Given the description of an element on the screen output the (x, y) to click on. 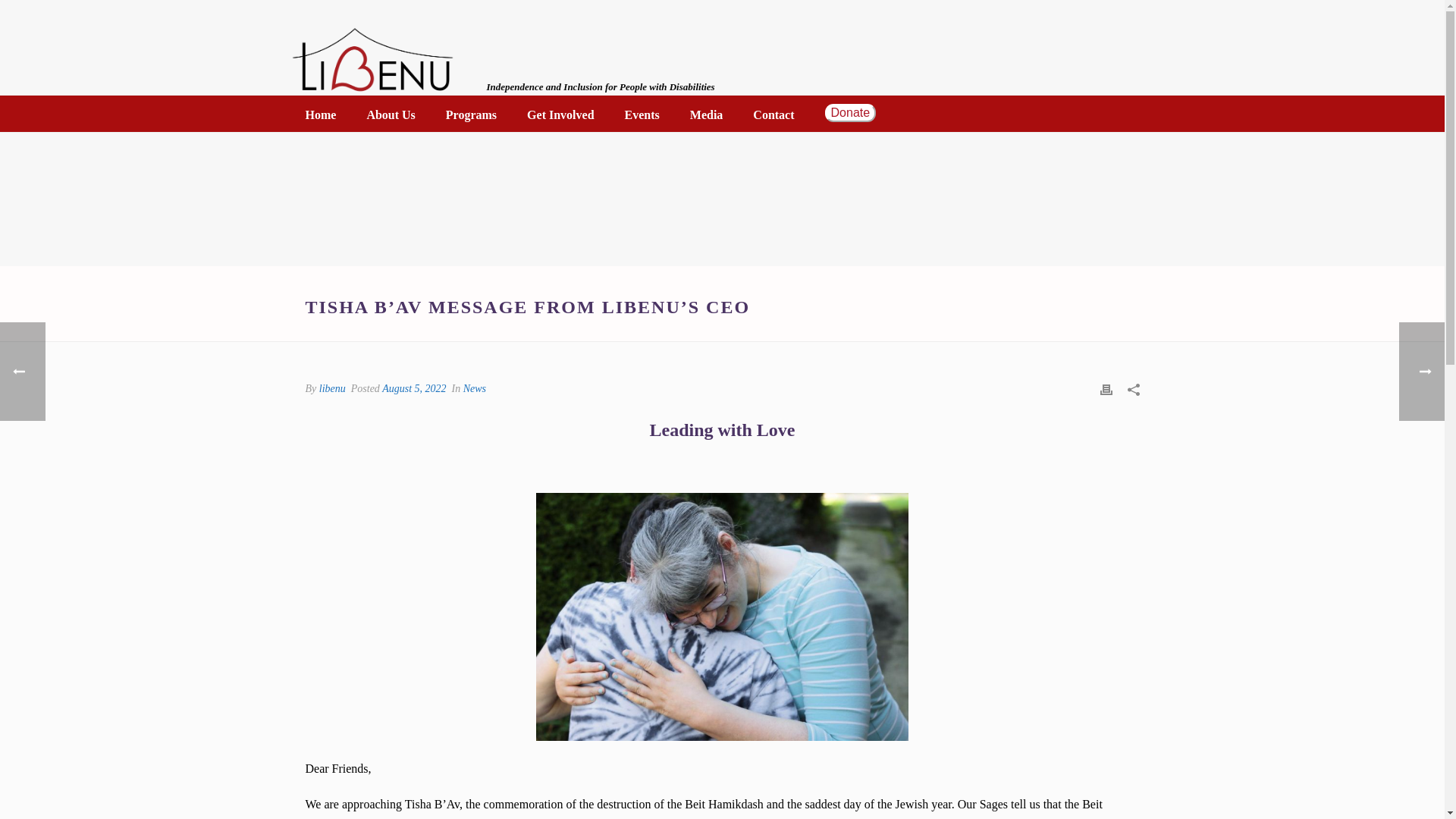
Programs (471, 115)
Events (642, 115)
Contact (773, 115)
Donate (850, 116)
About Us (389, 115)
Home (319, 115)
About Us (389, 115)
Home (319, 115)
Donate (850, 116)
Libenu (371, 60)
